Given the description of an element on the screen output the (x, y) to click on. 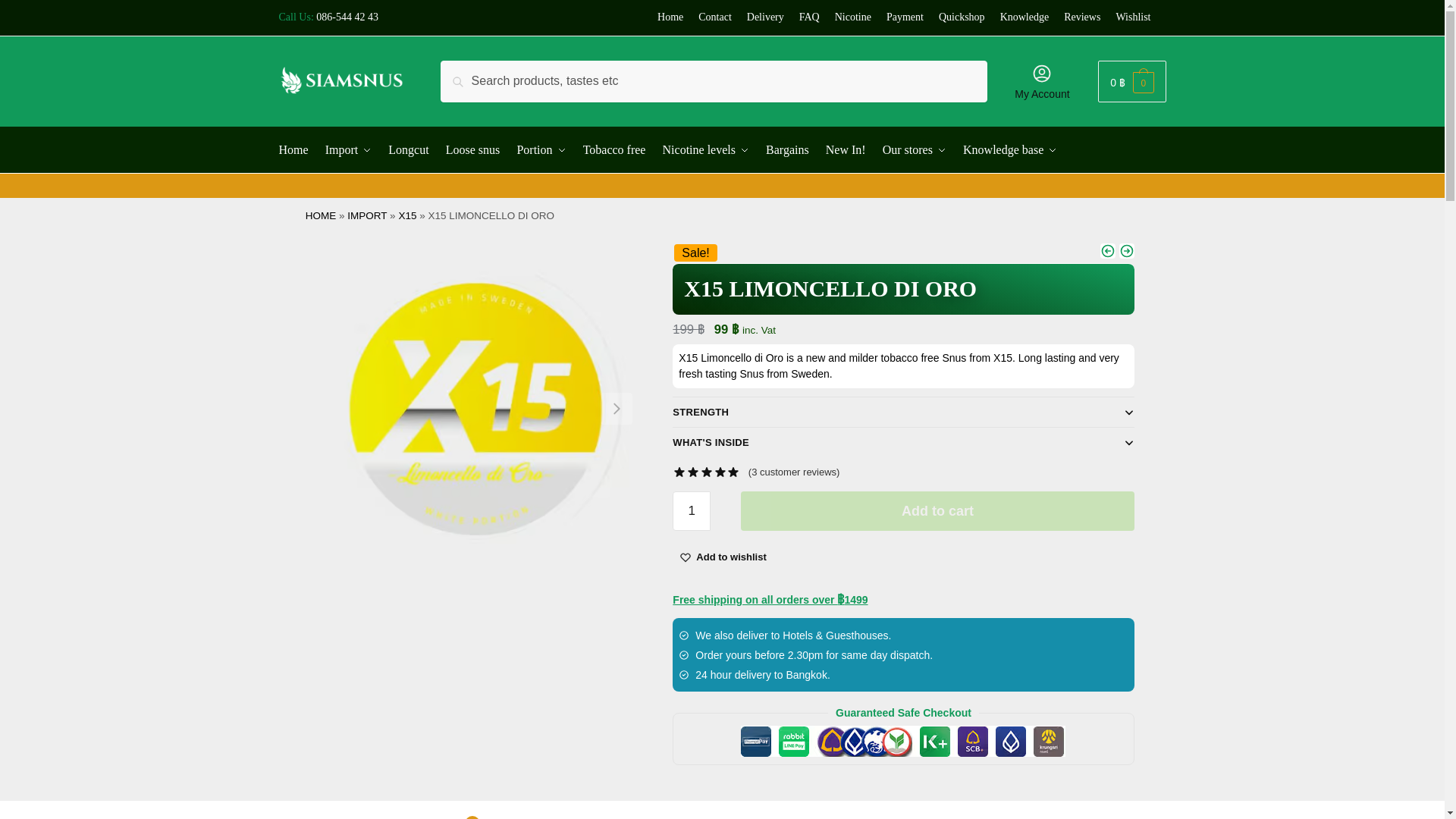
Wishlist (730, 556)
Home (670, 17)
FAQ (809, 17)
My Account (1042, 80)
Reviews (1082, 17)
Wishlist (1132, 17)
Search (464, 70)
Call us at 086-544 42 43 (346, 16)
Nicotine (852, 17)
Payment (904, 17)
086-544 42 43 (346, 16)
Import (348, 149)
Knowledge (1024, 17)
View your shopping cart (1131, 81)
Delivery (765, 17)
